Given the description of an element on the screen output the (x, y) to click on. 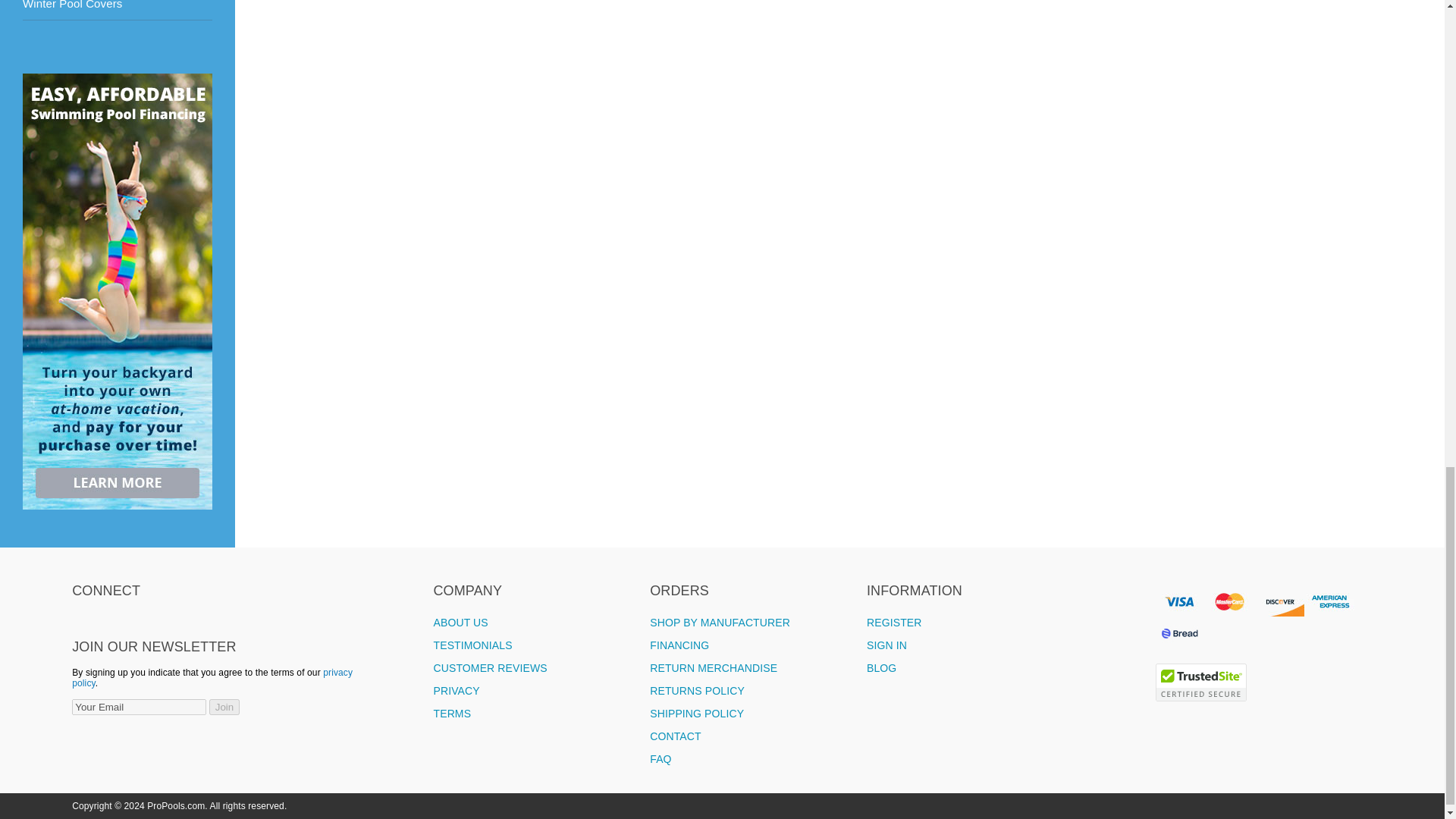
Join (224, 706)
Your Email (138, 706)
View TrustedSite Certification (1201, 697)
